Given the description of an element on the screen output the (x, y) to click on. 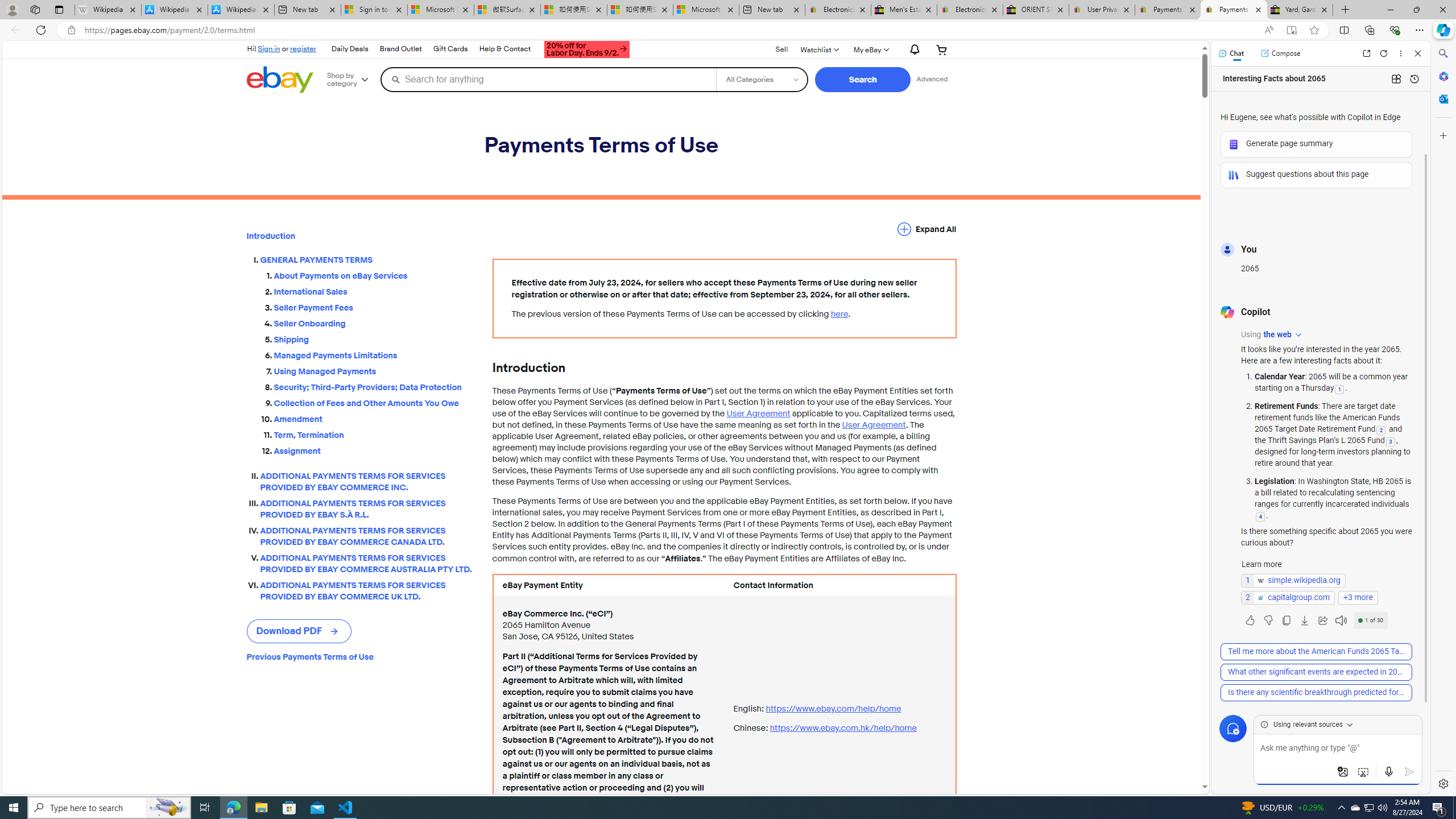
About Payments on eBay Services (373, 275)
AutomationID: gh-ti (584, 47)
Sign in to your Microsoft account (374, 9)
Advanced Search (931, 78)
Download PDF  (299, 631)
Introduction (360, 236)
Sell (781, 49)
GENERAL PAYMENTS TERMS (367, 259)
